Given the description of an element on the screen output the (x, y) to click on. 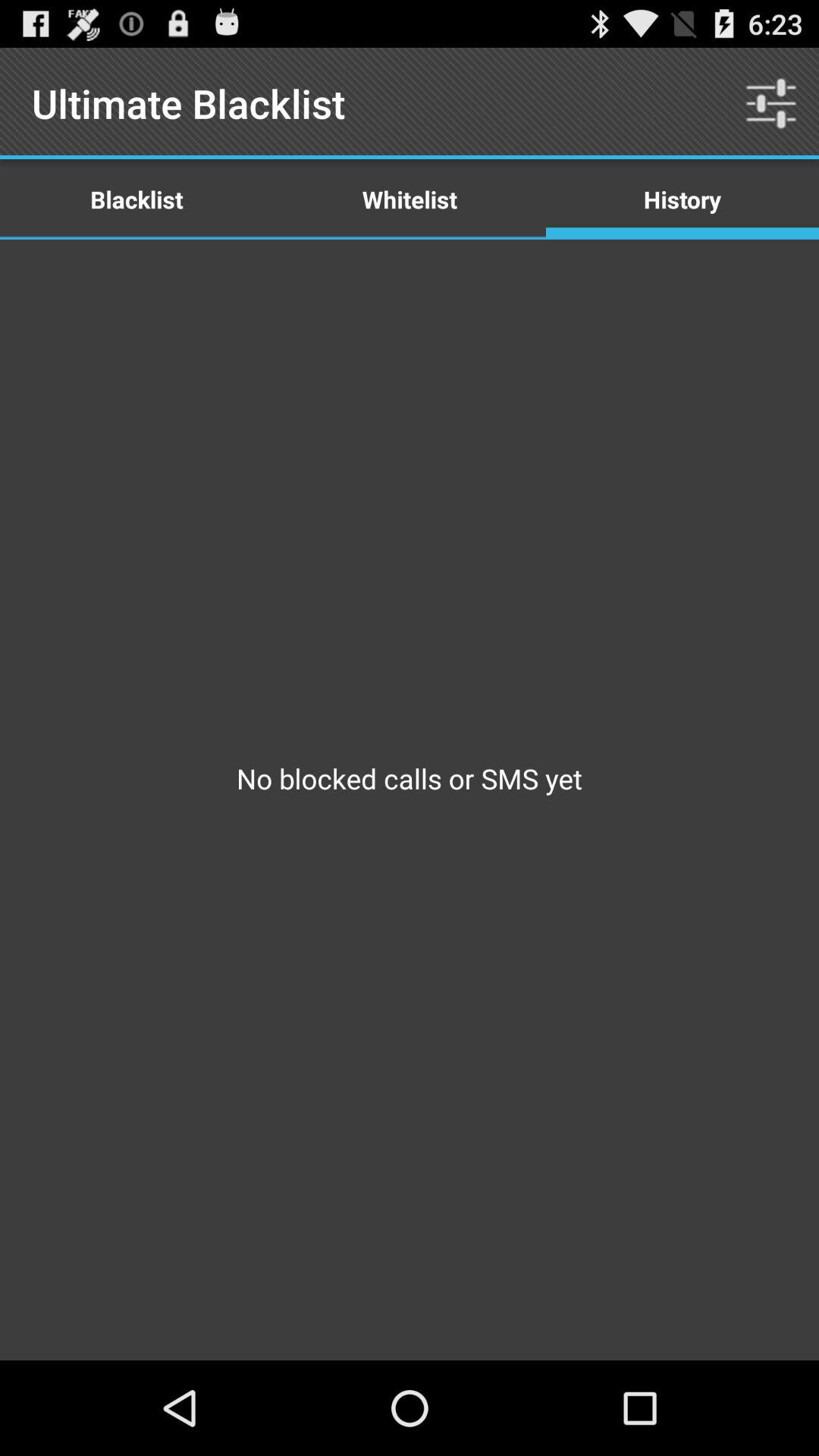
press item above no blocked calls icon (409, 199)
